Given the description of an element on the screen output the (x, y) to click on. 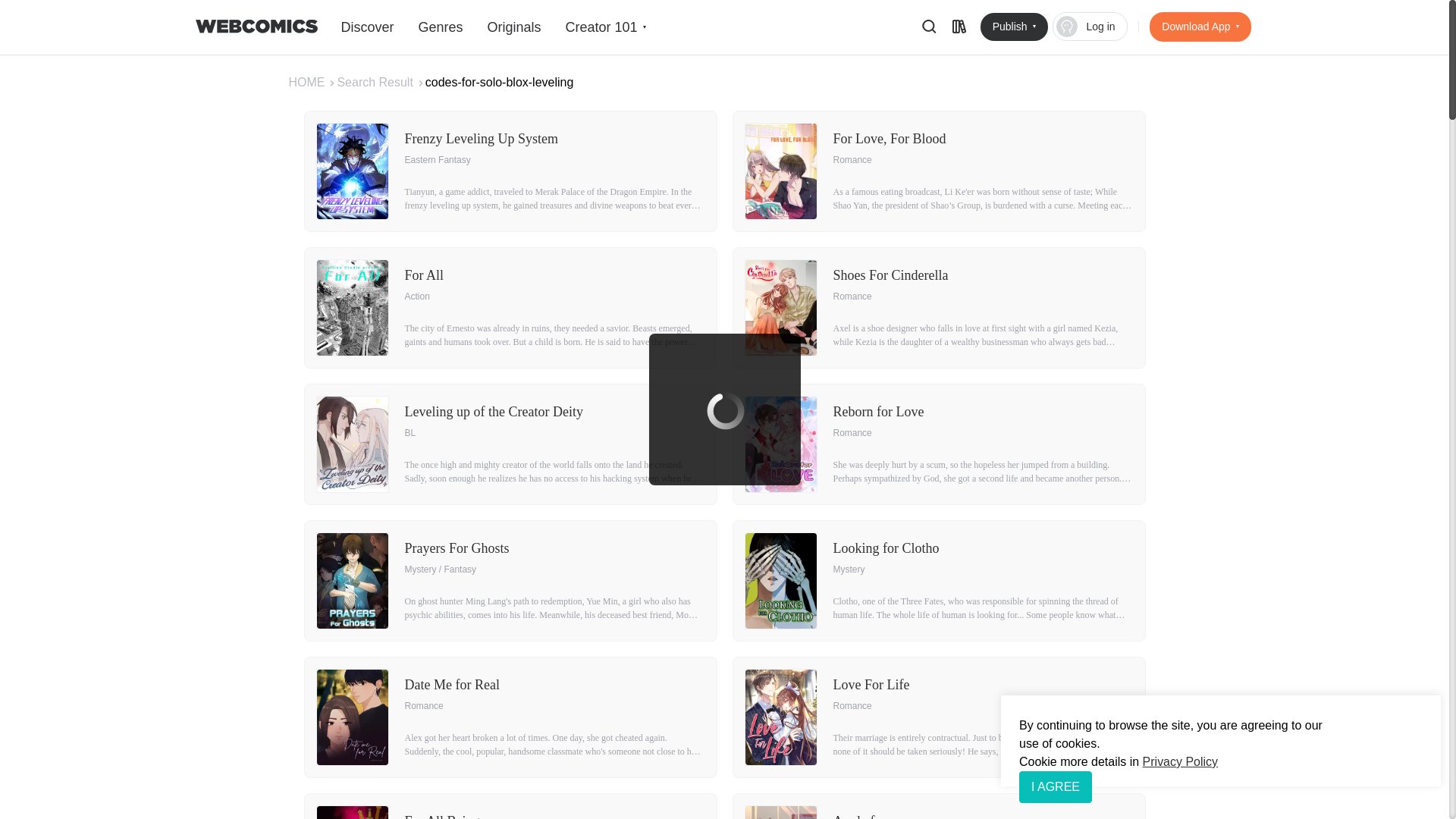
Originals (513, 27)
Discover (366, 27)
search (928, 26)
sheet (959, 26)
HOME (312, 82)
